Given the description of an element on the screen output the (x, y) to click on. 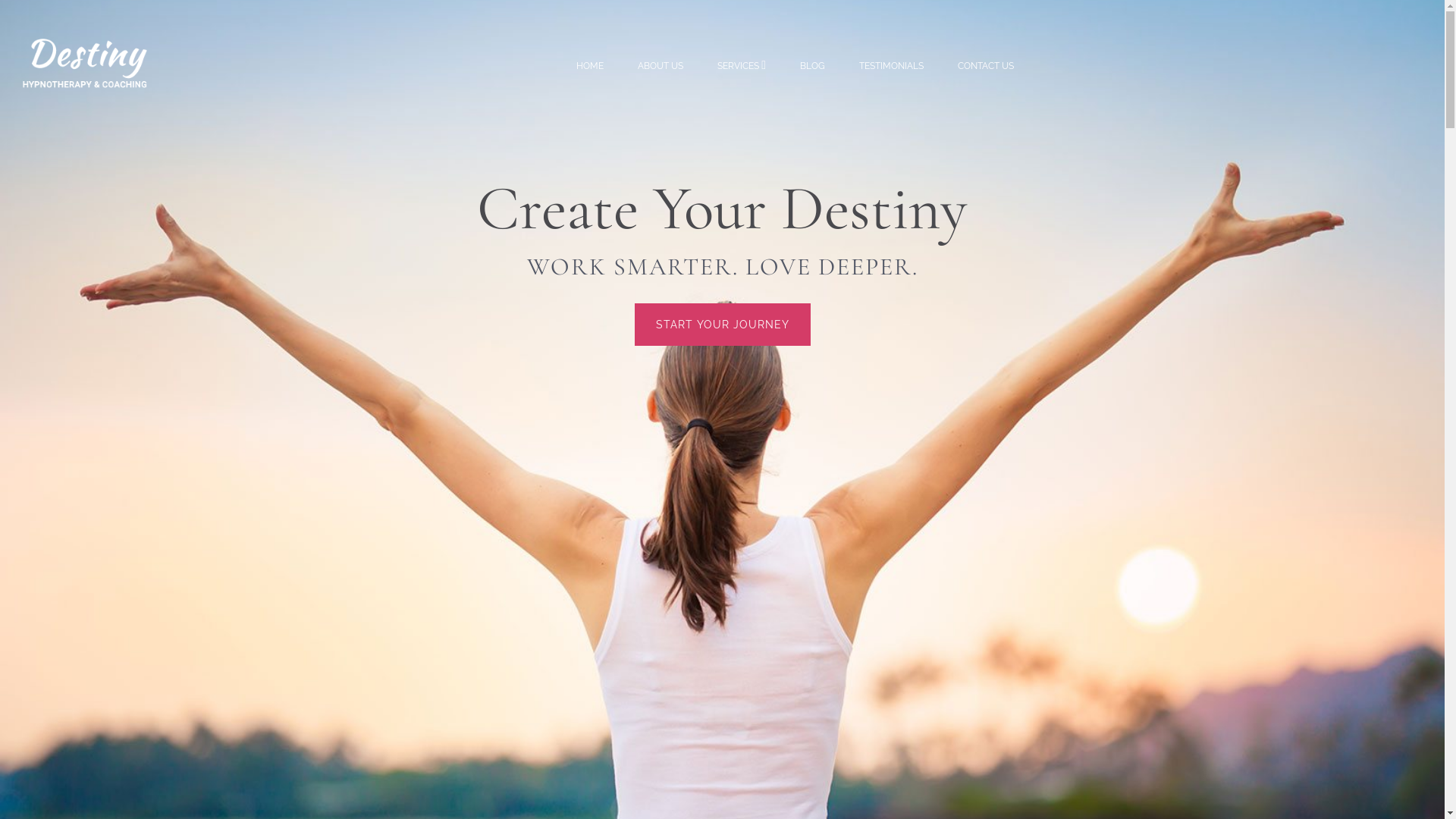
HOME Element type: text (597, 65)
SERVICES Element type: text (741, 65)
CONTACT US Element type: text (977, 65)
DESTINY HYPNOTHERAPY & COACHING Element type: text (98, 62)
ABOUT US Element type: text (660, 65)
START YOUR JOURNEY Element type: text (721, 324)
TESTIMONIALS Element type: text (891, 65)
Skip to main content Element type: text (0, 0)
BLOG Element type: text (812, 65)
